Given the description of an element on the screen output the (x, y) to click on. 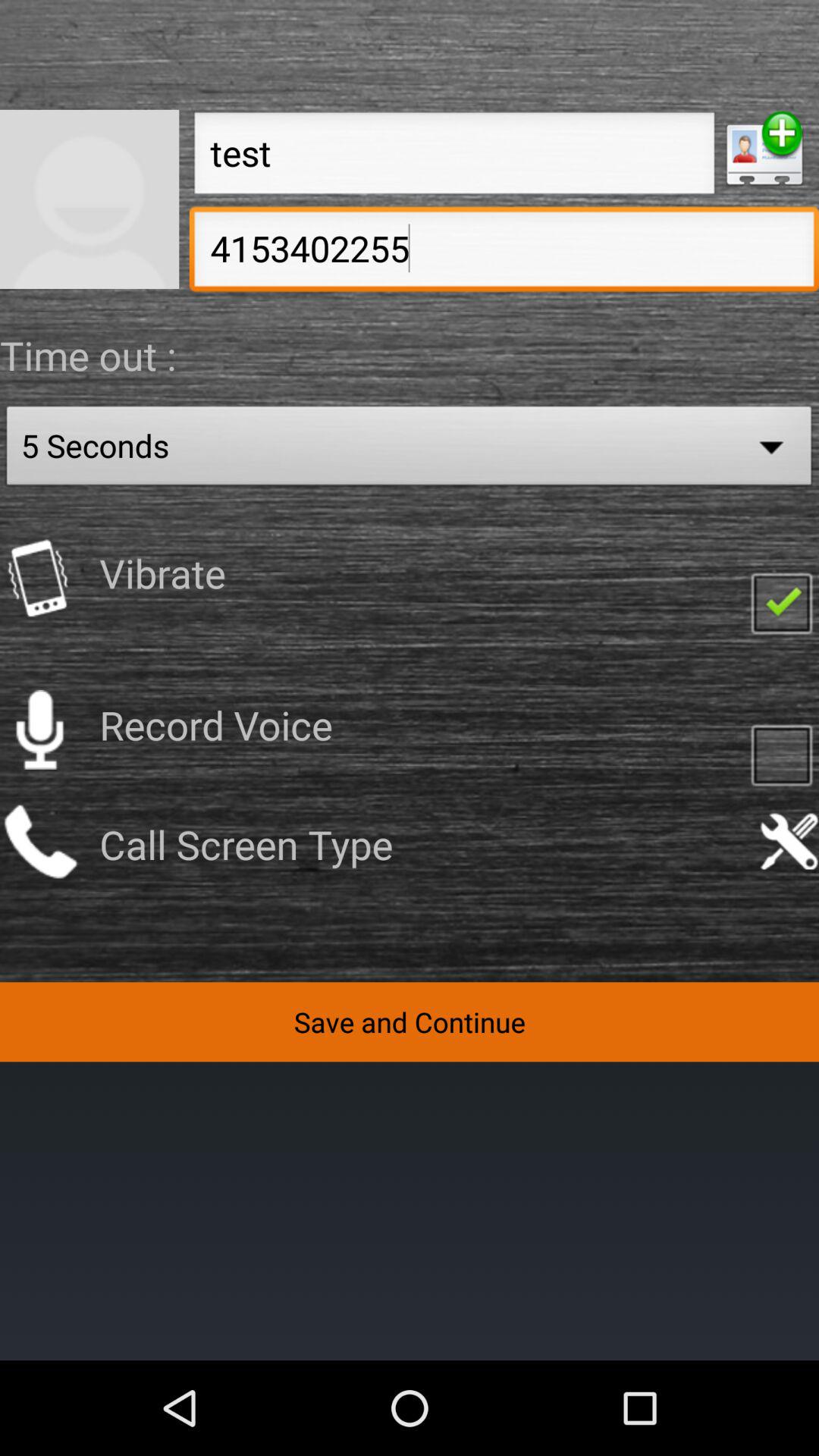
setting (789, 841)
